Given the description of an element on the screen output the (x, y) to click on. 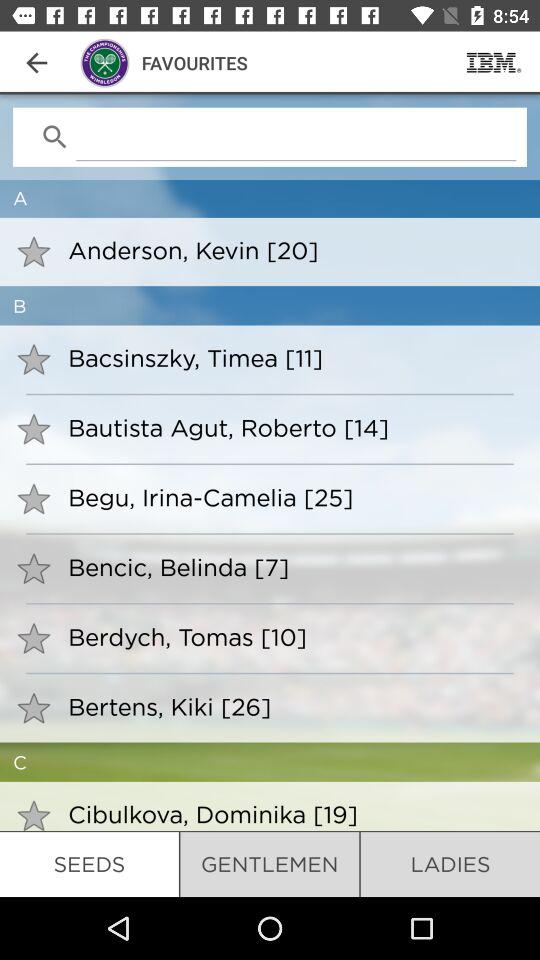
scroll to the ladies (450, 863)
